Given the description of an element on the screen output the (x, y) to click on. 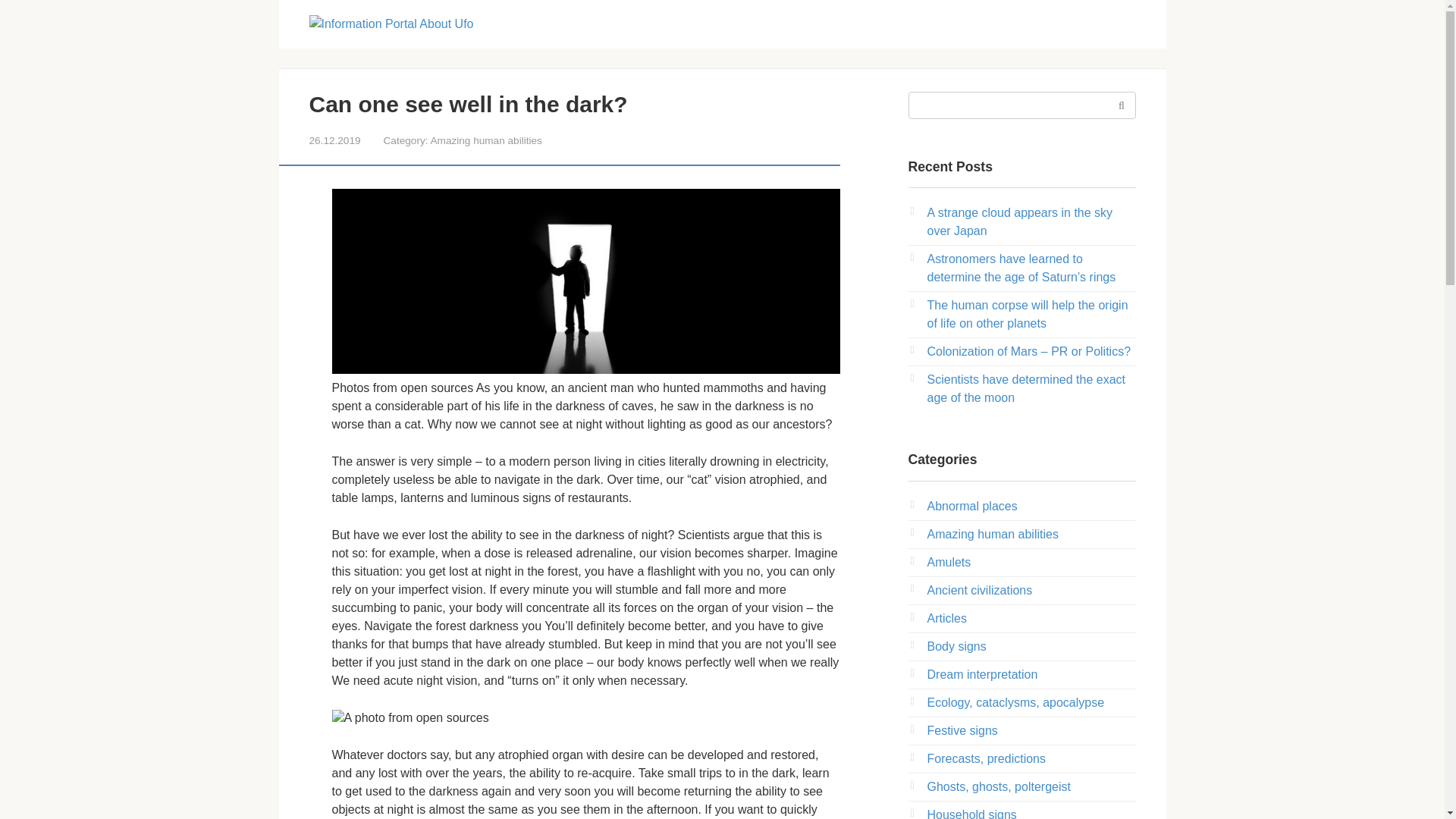
Ecology, cataclysms, apocalypse (1014, 702)
Body signs (955, 645)
A strange cloud appears in the sky over Japan (1019, 221)
Scientists have determined the exact age of the moon (1025, 388)
Ghosts, ghosts, poltergeist (998, 786)
Forecasts, predictions (985, 758)
Amazing human abilities (992, 533)
Photo: Can one see well in the dark? (585, 281)
